Given the description of an element on the screen output the (x, y) to click on. 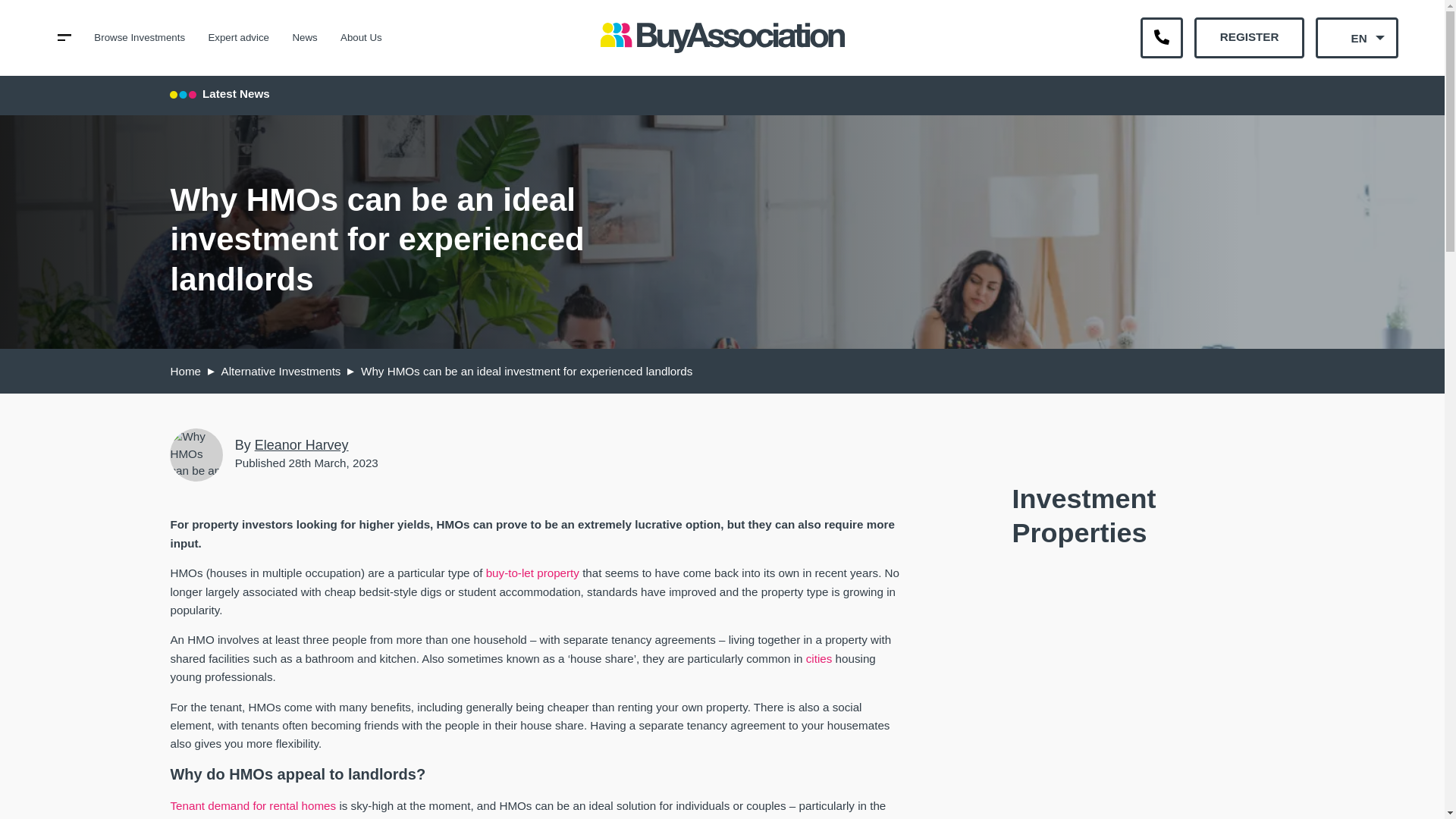
REGISTER (1248, 37)
Home (185, 370)
buy-to-let property (532, 572)
Tenant demand for rental homes (253, 805)
cities (819, 658)
Alternative Investments (280, 370)
Browse Investments (139, 38)
Posts by Eleanor Harvey (301, 444)
News (305, 38)
Eleanor Harvey (301, 444)
Expert advice (238, 38)
About Us (361, 38)
EN (1356, 37)
